Given the description of an element on the screen output the (x, y) to click on. 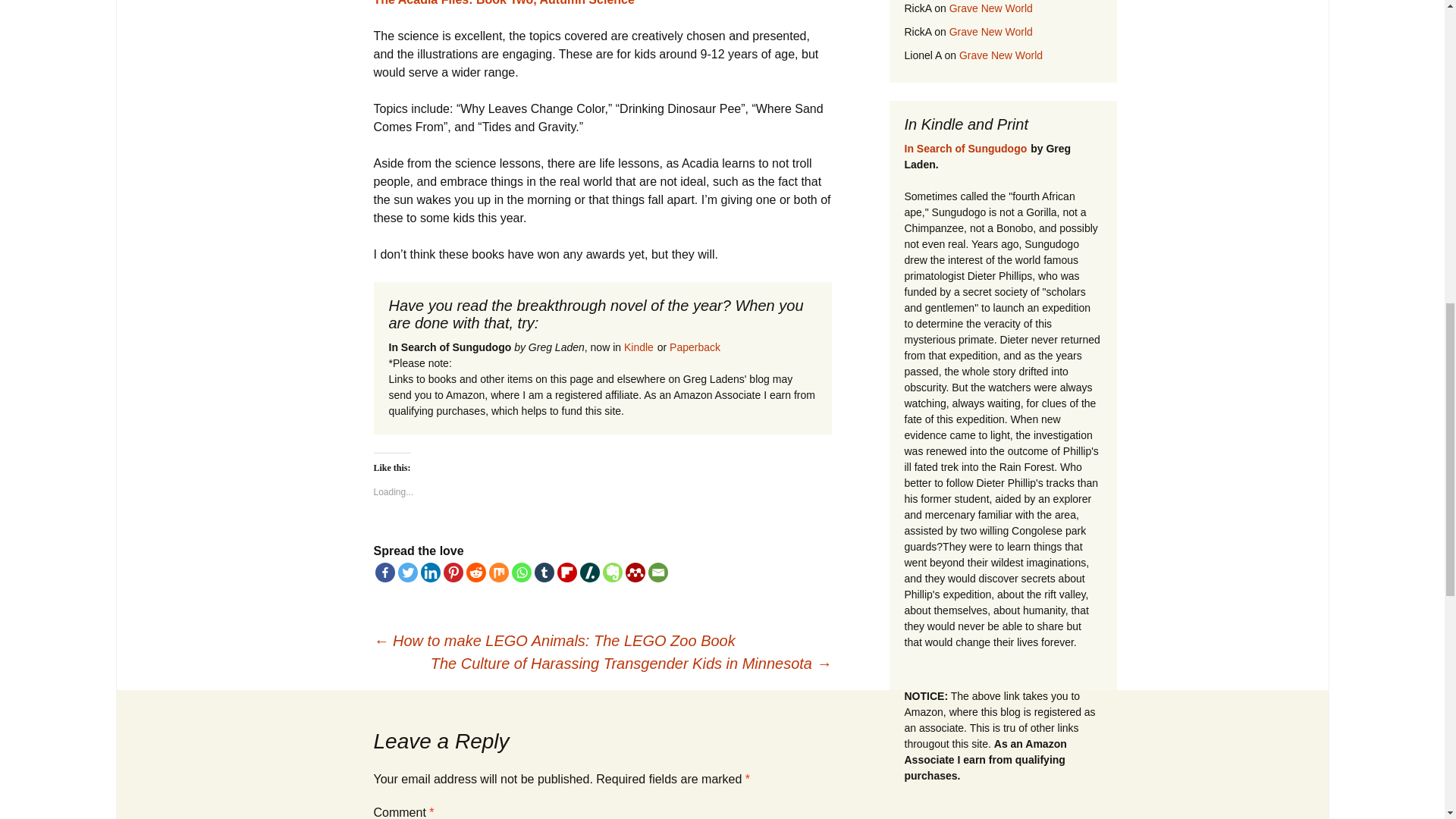
Facebook (384, 572)
Paperback (694, 346)
Kindle (638, 346)
The Acadia Files: Book Two, Autumn Science (502, 2)
